Given the description of an element on the screen output the (x, y) to click on. 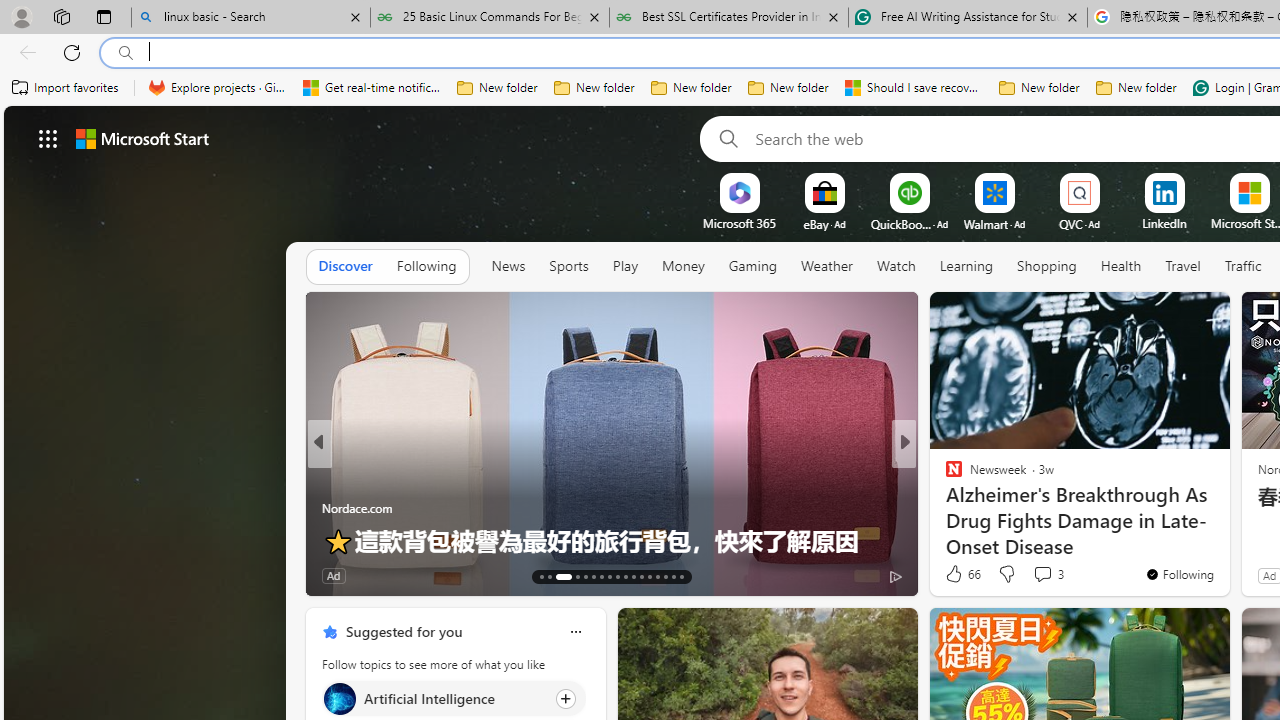
TODAY (944, 475)
Reader's Digest (944, 475)
AutomationID: tab-21 (617, 576)
962 Like (959, 574)
Suggested for you (404, 631)
Ad Choice (287, 575)
68 Like (956, 574)
New folder (1136, 88)
Best SSL Certificates Provider in India - GeeksforGeeks (729, 17)
AutomationID: tab-13 (541, 576)
Should I save recovered Word documents? - Microsoft Support (913, 88)
55 Like (956, 574)
View comments 137 Comment (432, 574)
